Given the description of an element on the screen output the (x, y) to click on. 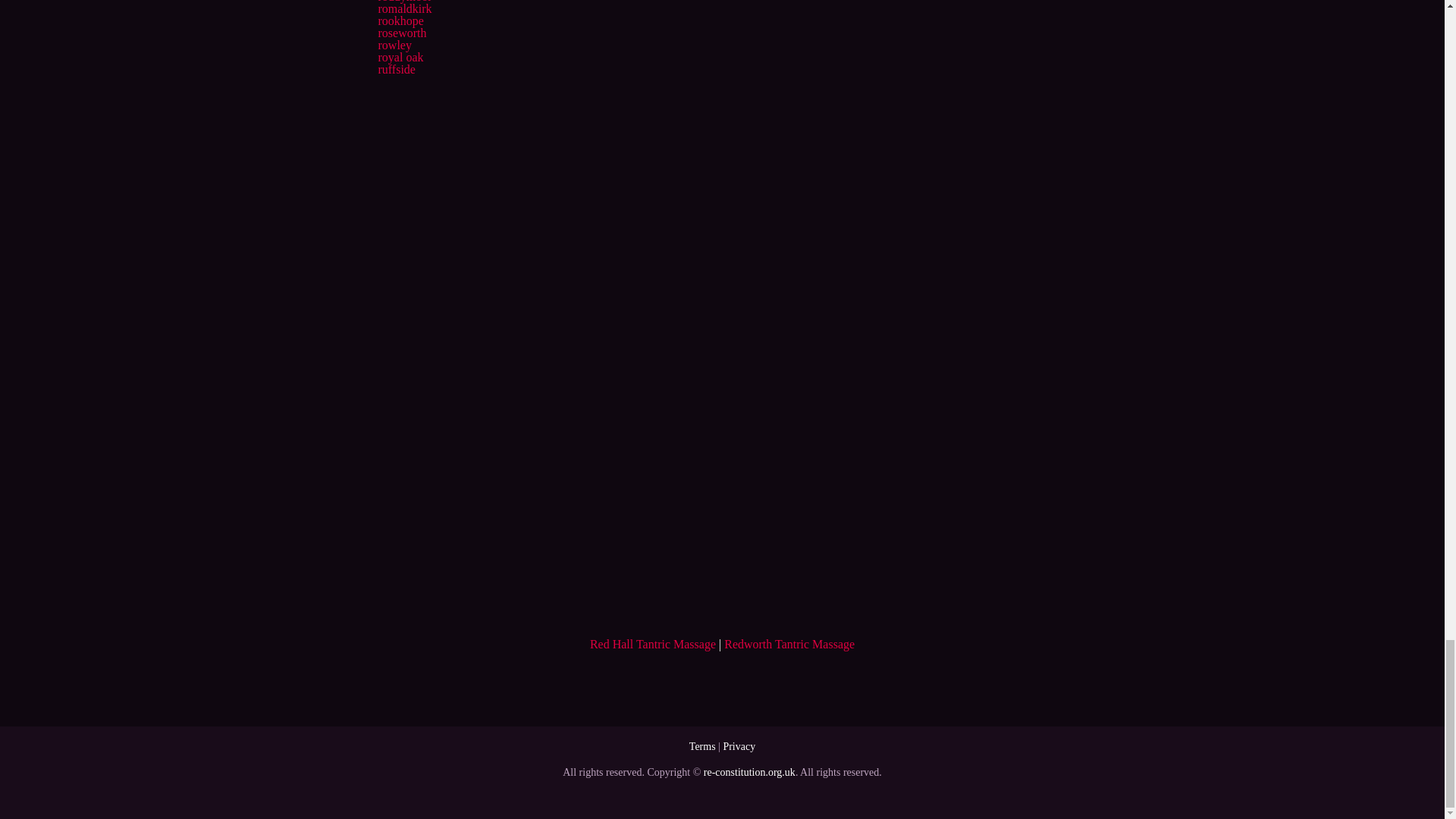
romaldkirk (403, 8)
ruffside (395, 69)
Terms (702, 746)
roddymoor (403, 1)
Redworth Tantric Massage (788, 644)
royal oak (400, 56)
Privacy (738, 746)
Red Hall Tantric Massage (652, 644)
rowley (393, 44)
re-constitution.org.uk (748, 772)
